Given the description of an element on the screen output the (x, y) to click on. 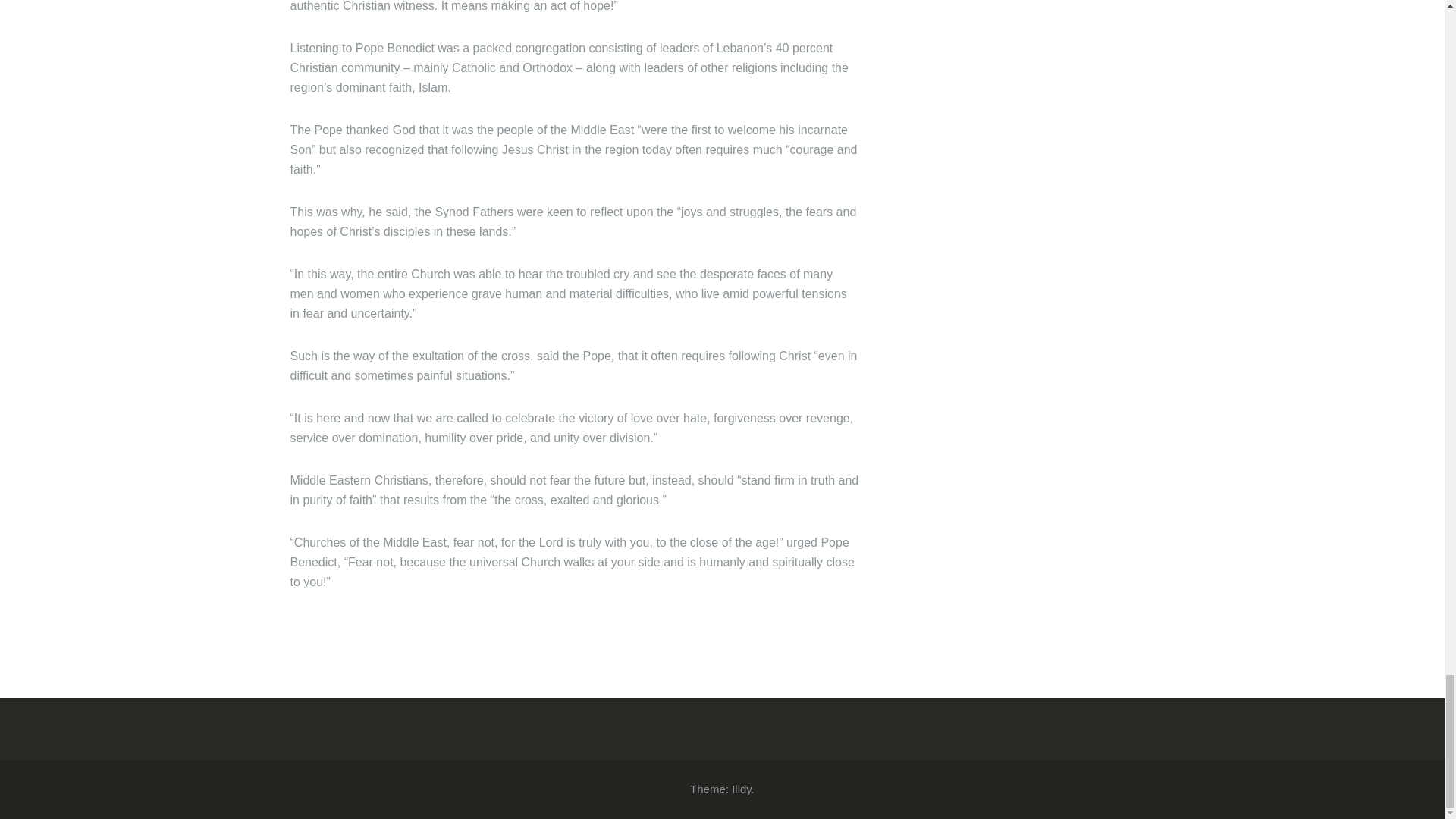
Illdy (741, 788)
